Given the description of an element on the screen output the (x, y) to click on. 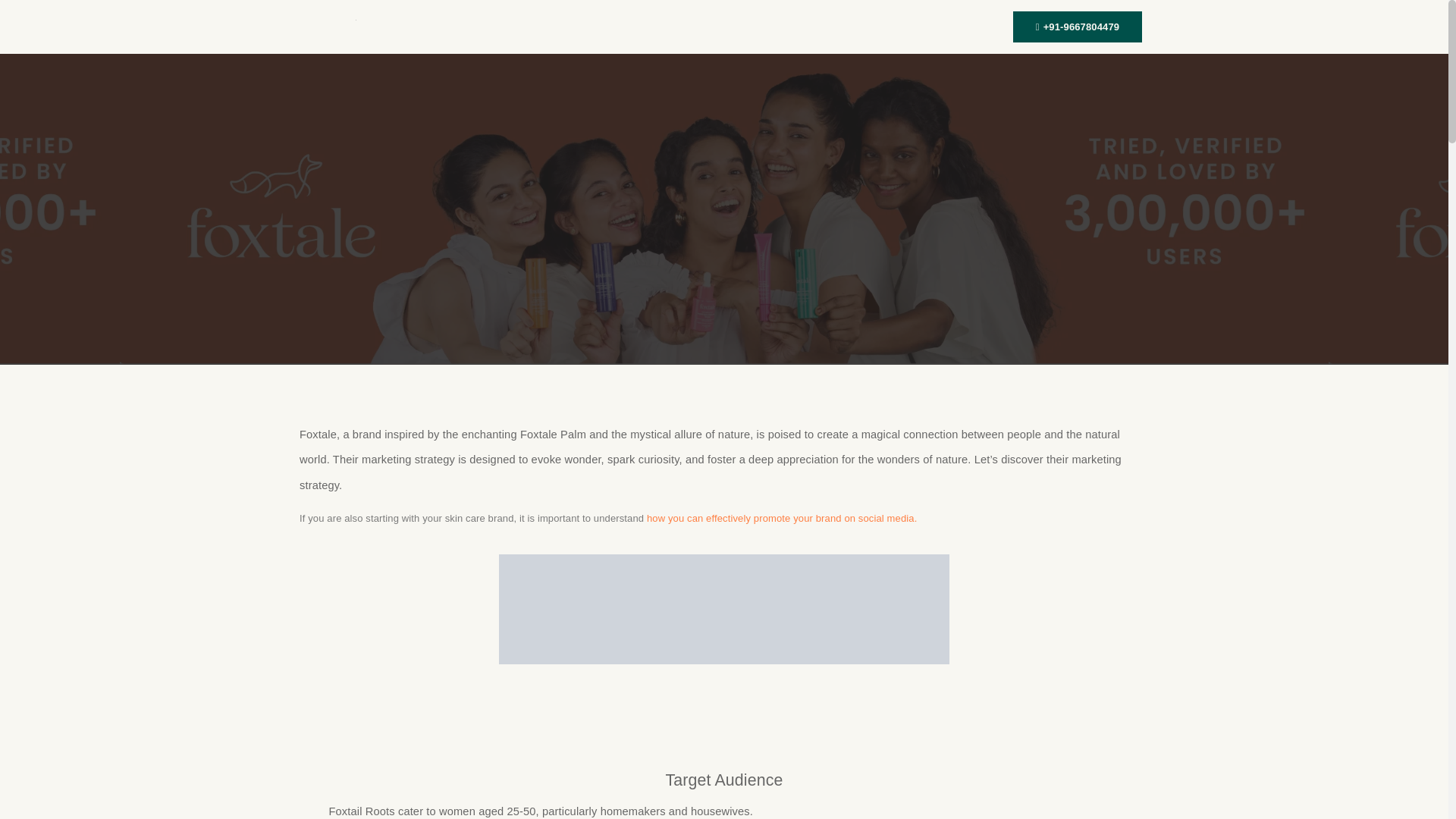
how you can effectively promote your brand on social media. (780, 518)
